Given the description of an element on the screen output the (x, y) to click on. 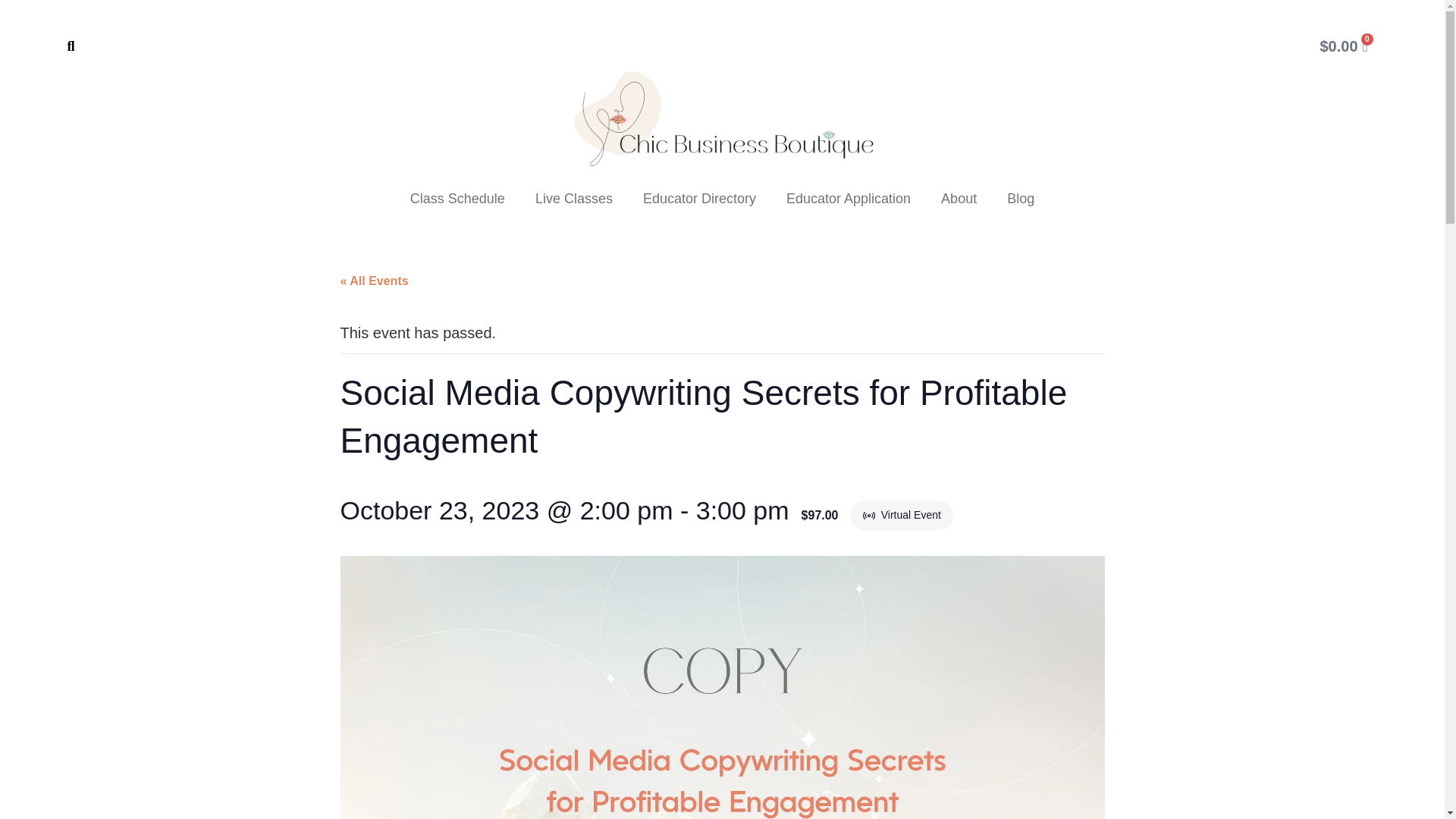
Virtual Event (870, 515)
Blog (1020, 198)
Class Schedule (456, 198)
Educator Application (848, 198)
Live Classes (573, 198)
Educator Directory (699, 198)
Virtual Event (869, 515)
About (958, 198)
